Given the description of an element on the screen output the (x, y) to click on. 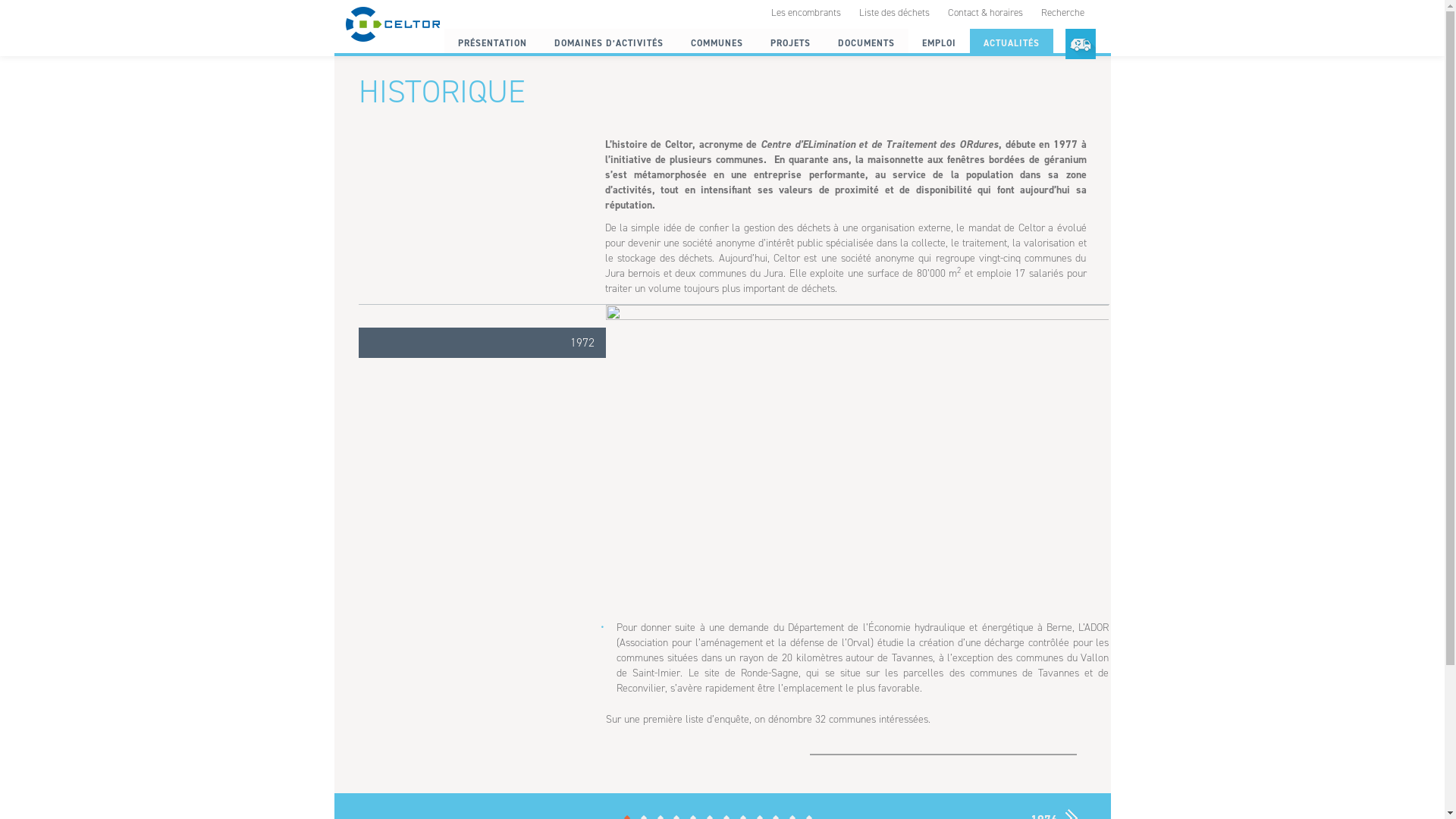
Contact & horaires Element type: text (984, 12)
EMPLOI Element type: text (939, 43)
PROJETS Element type: text (790, 43)
Les encombrants Element type: text (805, 12)
DOCUMENTS Element type: text (865, 43)
Recherche Element type: text (1061, 12)
COMMUNES Element type: text (716, 43)
